Given the description of an element on the screen output the (x, y) to click on. 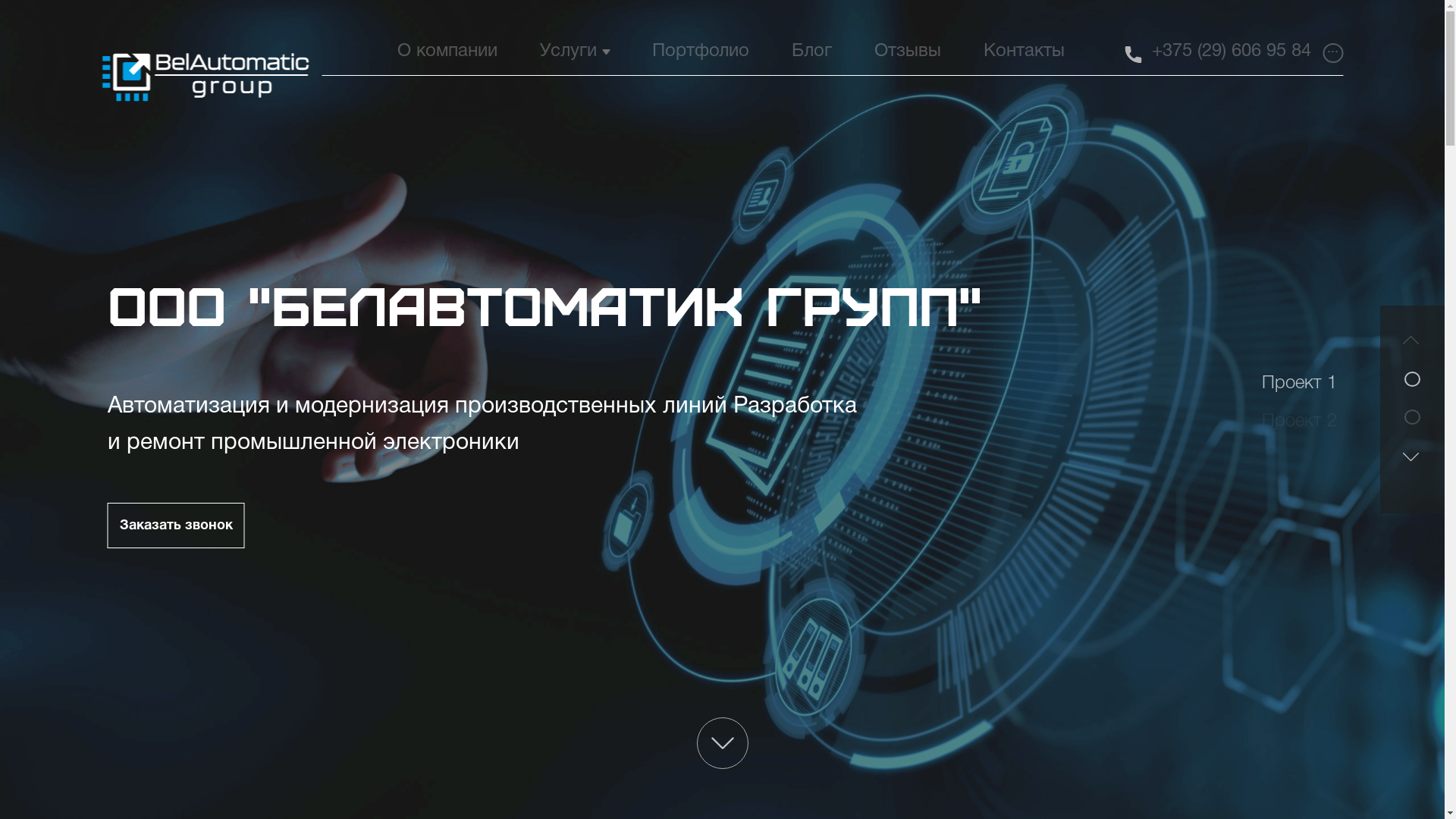
Previous Element type: text (1410, 350)
+375 (29) 606 95 84 Element type: text (1231, 51)
Next Element type: text (1410, 467)
